Given the description of an element on the screen output the (x, y) to click on. 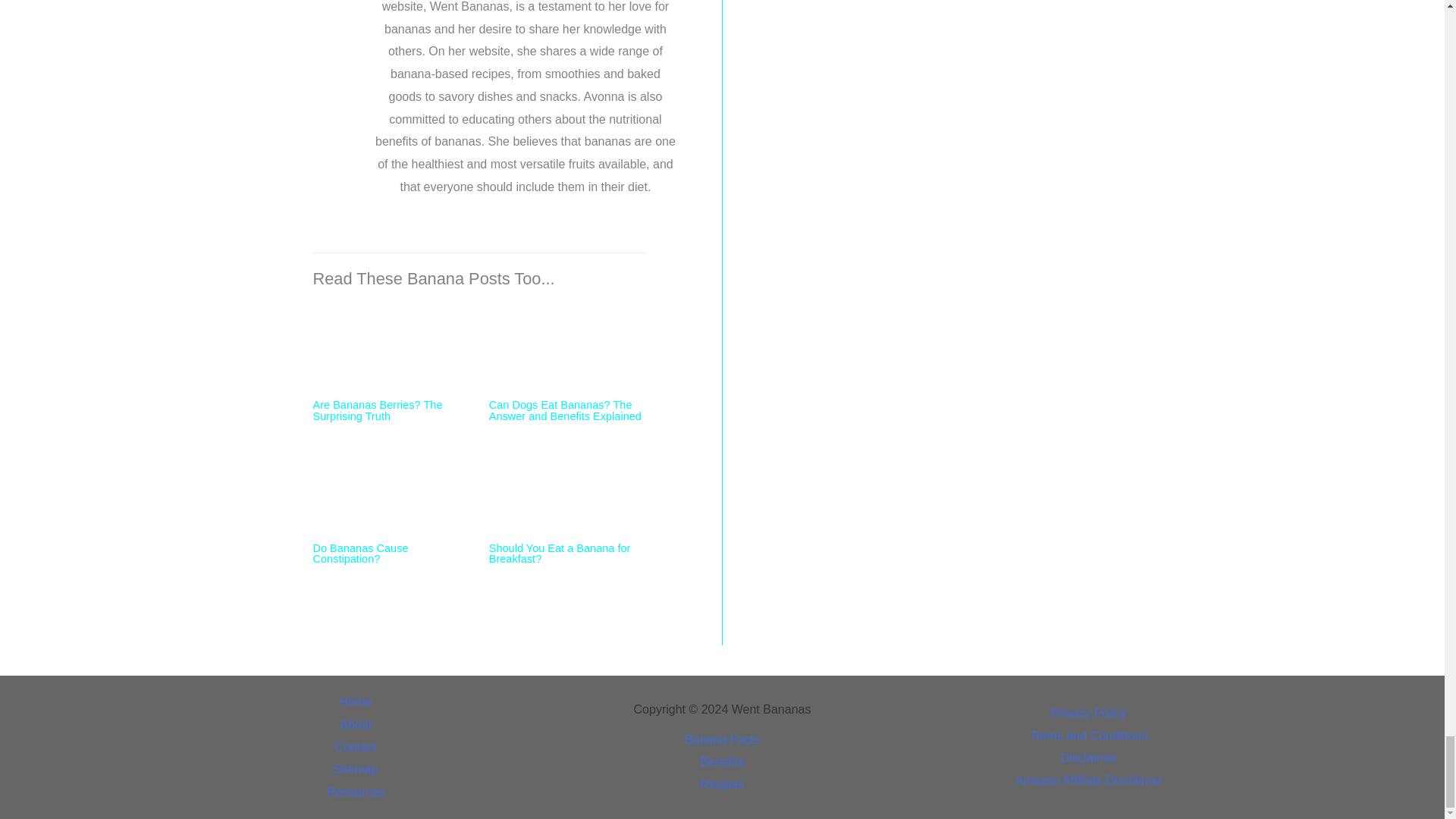
Can Dogs Eat Bananas? The Answer and Benefits Explained (567, 346)
Do Bananas Cause Constipation? (390, 488)
Are Bananas Berries? The Surprising Truth (390, 346)
Should You Eat a Banana for Breakfast? (567, 488)
